Given the description of an element on the screen output the (x, y) to click on. 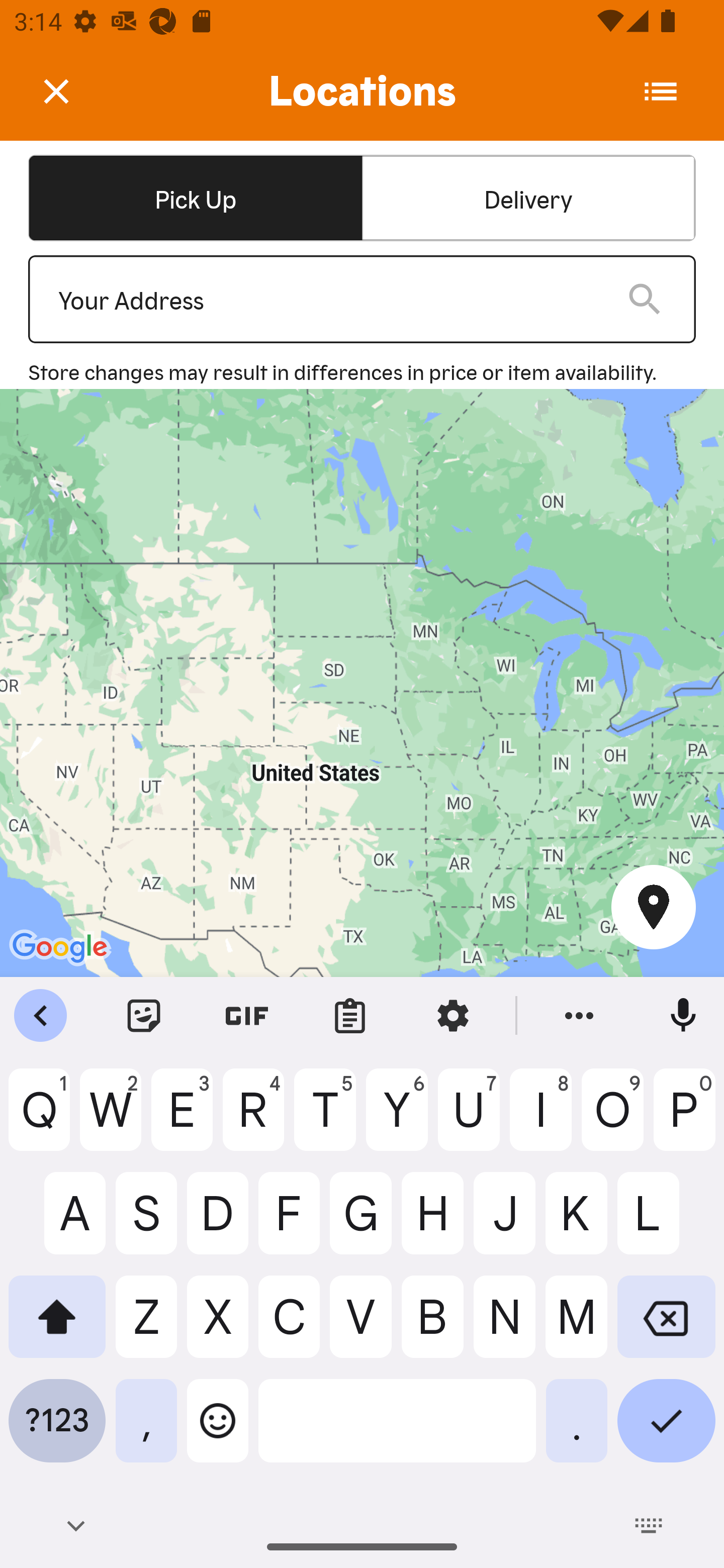
 (70, 90)
List  (660, 91)
Locations (362, 91)
Pick UpSelected Pick UpSelected Pick Up (195, 197)
Delivery Delivery Delivery (528, 197)
Your Address (327, 299)
Google Map (362, 682)
